Given the description of an element on the screen output the (x, y) to click on. 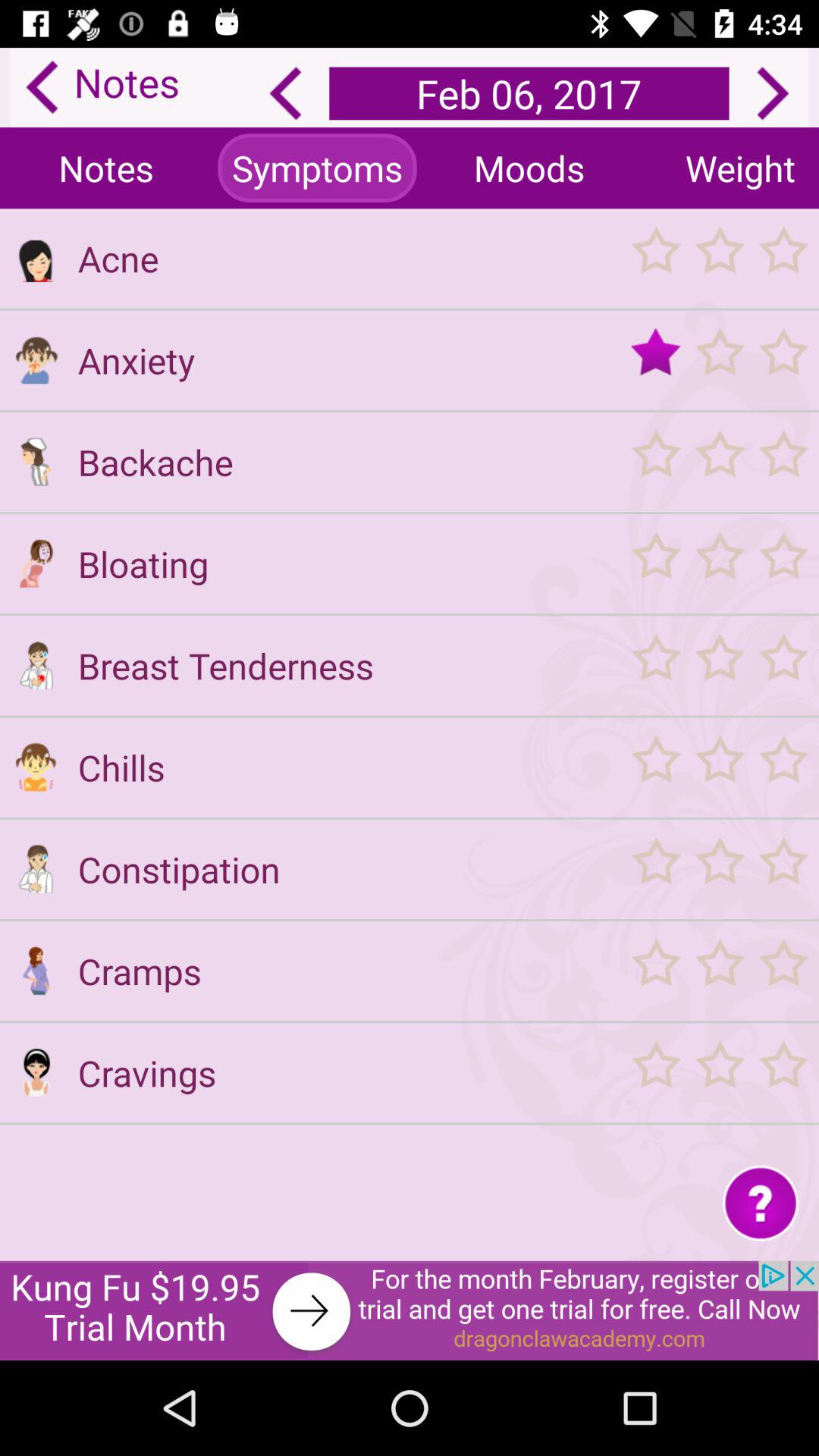
breast tenderness choice (35, 665)
